Given the description of an element on the screen output the (x, y) to click on. 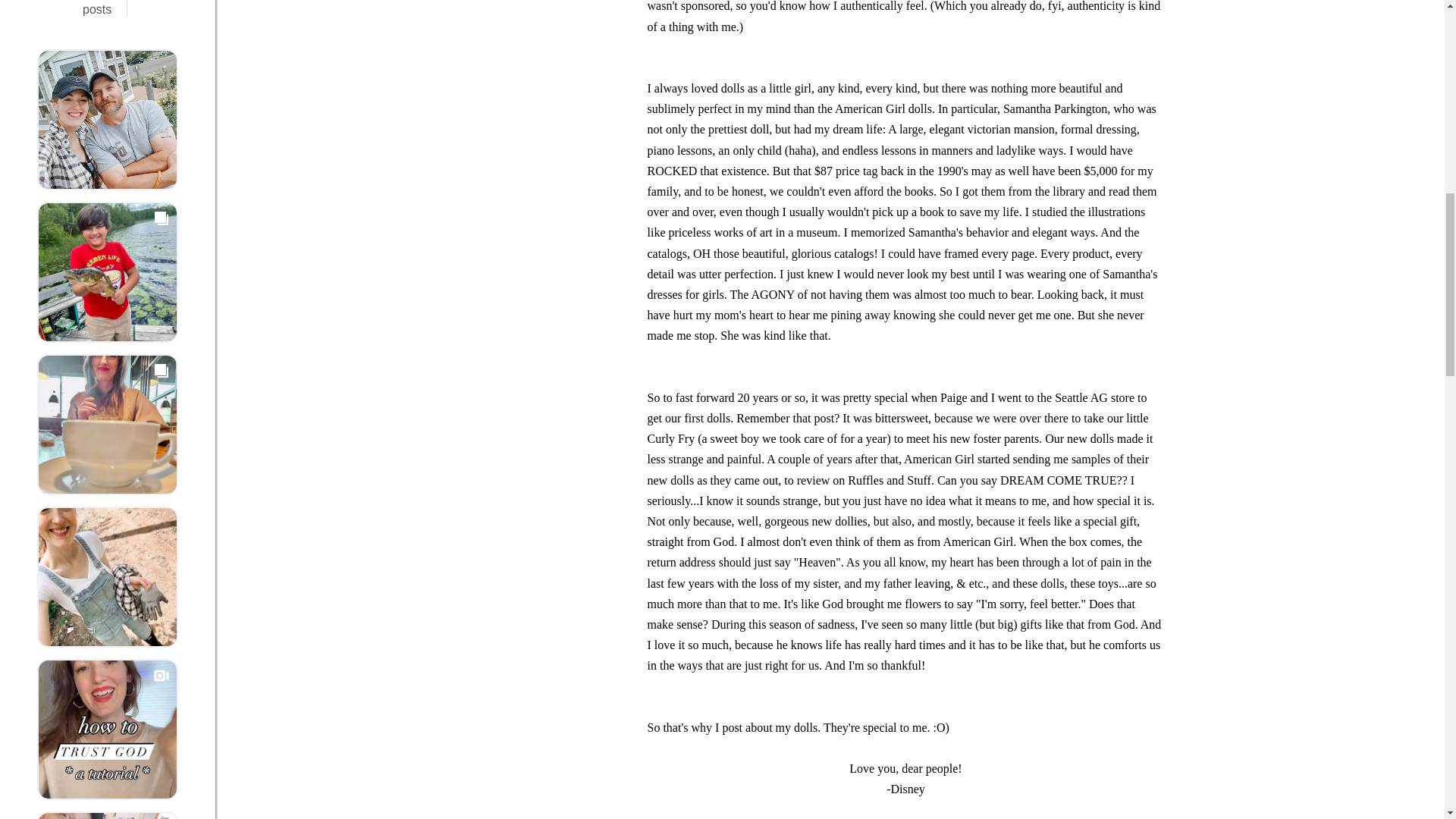
that post (813, 418)
